Given the description of an element on the screen output the (x, y) to click on. 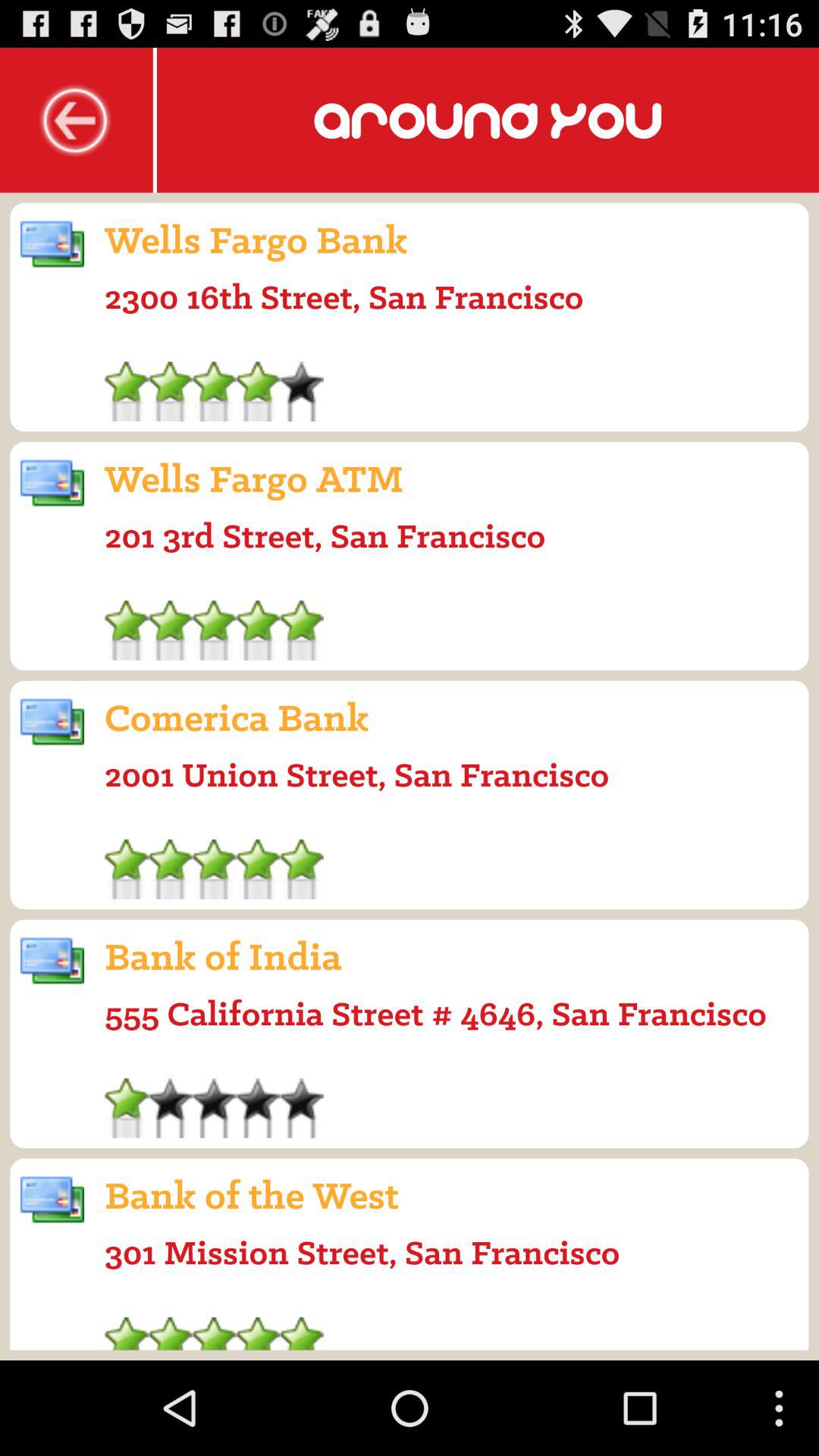
press app below bank of the icon (361, 1252)
